Given the description of an element on the screen output the (x, y) to click on. 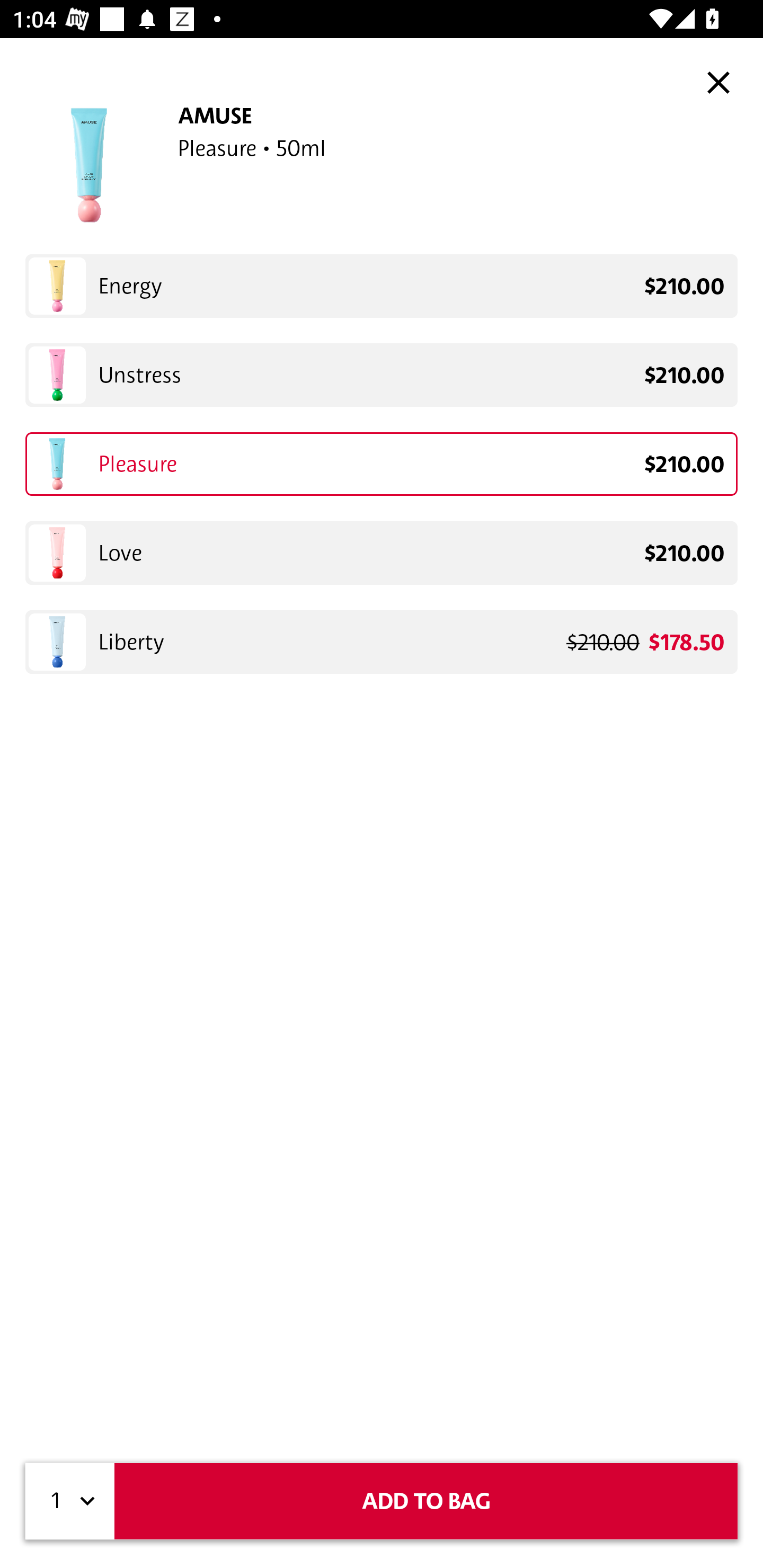
image description (718, 81)
AMUSE Pleasure • 50ml (381, 164)
Energy $210.00 (381, 285)
Unstress $210.00 (381, 375)
Pleasure $210.00 (381, 463)
Love $210.00 (381, 552)
Liberty $210.00 $178.50 (381, 641)
1 (69, 1500)
ADD TO BAG (425, 1500)
